Given the description of an element on the screen output the (x, y) to click on. 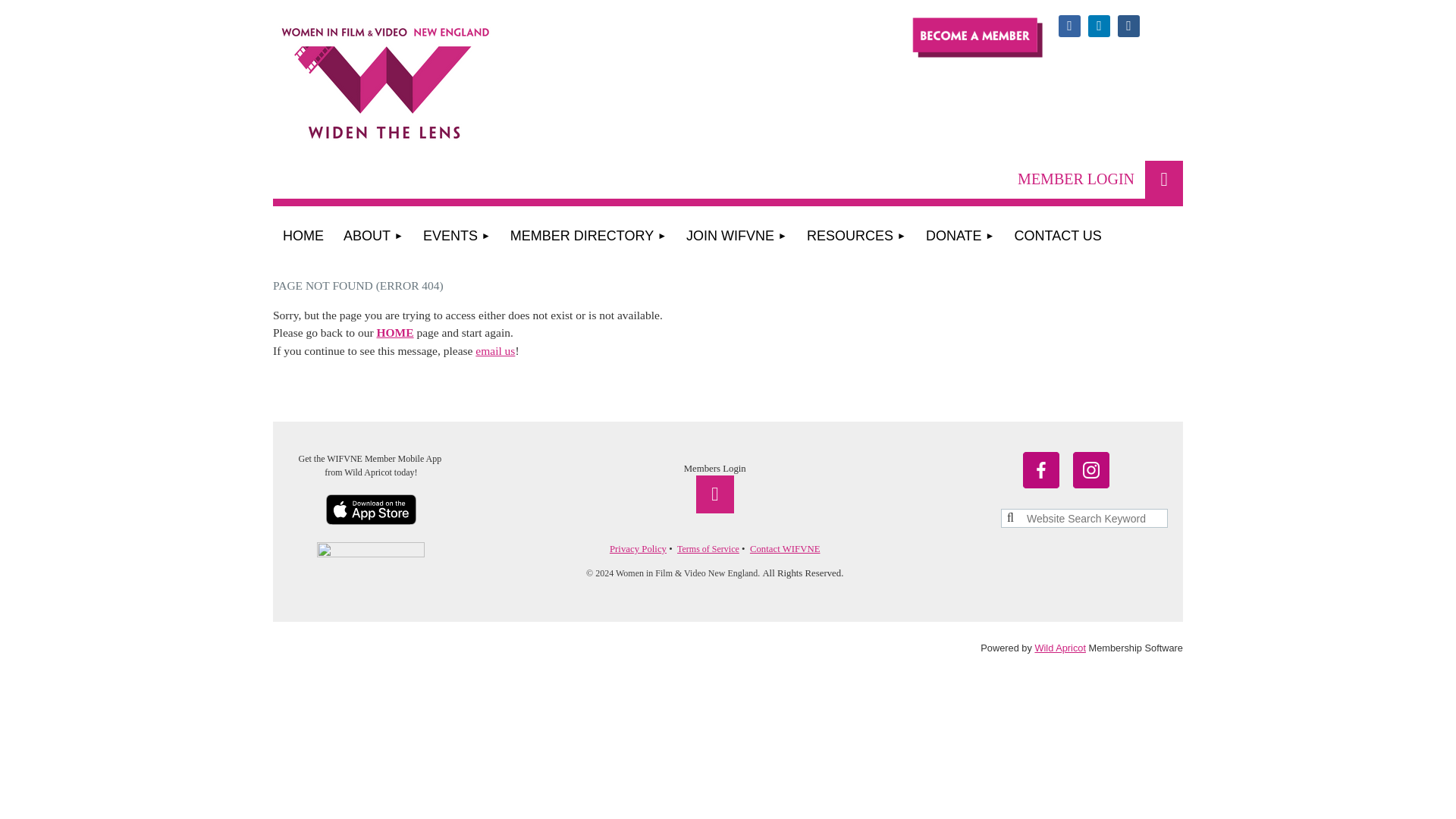
Log in (1163, 179)
Women in Fitlm and Video - New England (424, 101)
HOME (303, 236)
ABOUT (373, 236)
